Given the description of an element on the screen output the (x, y) to click on. 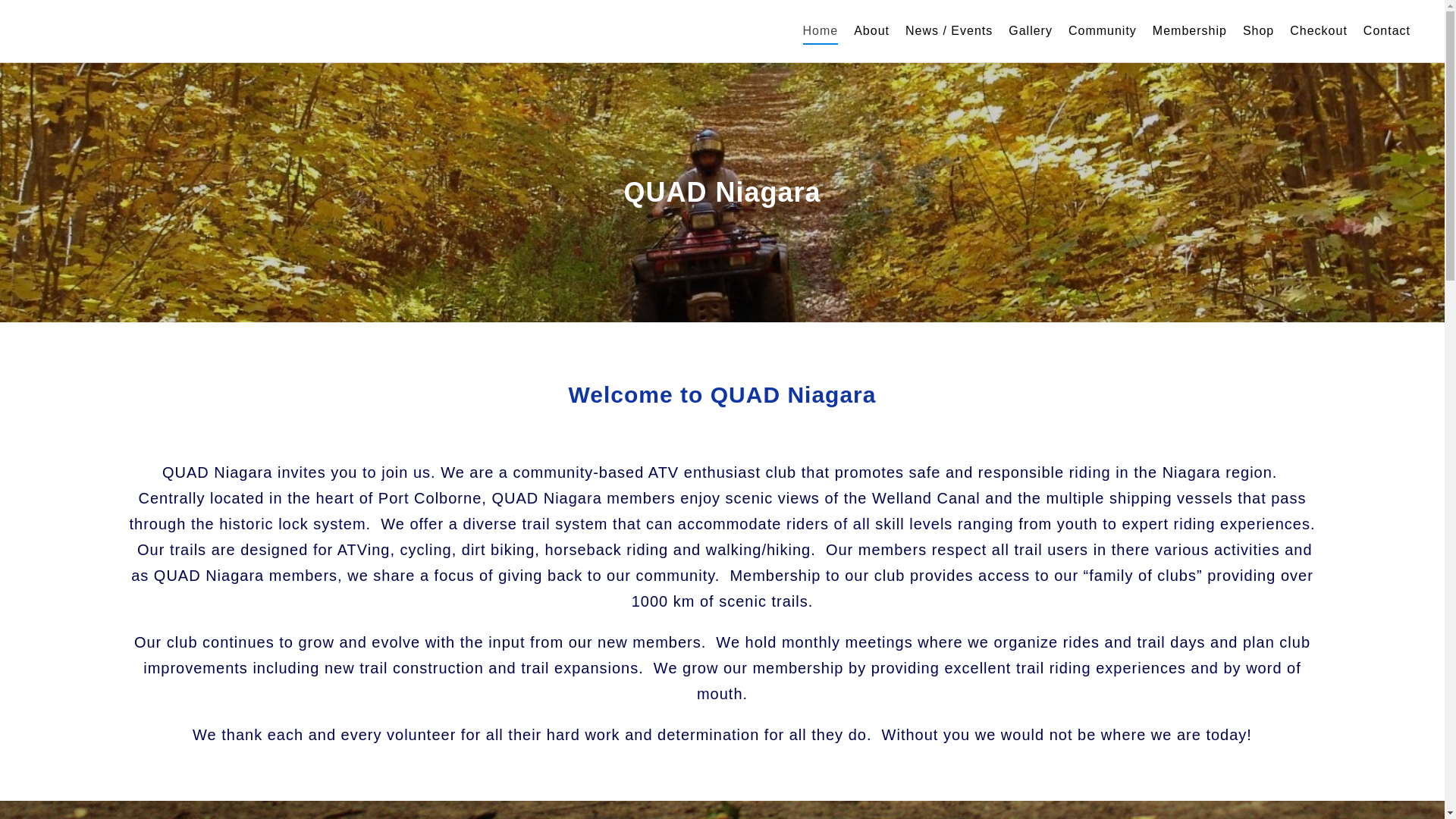
Membership (1189, 31)
About (870, 31)
Community (1102, 31)
Home (819, 31)
Checkout (1318, 31)
Gallery (1030, 31)
Shop (1257, 31)
Contact (1386, 31)
QUAD Niagara (59, 31)
